Given the description of an element on the screen output the (x, y) to click on. 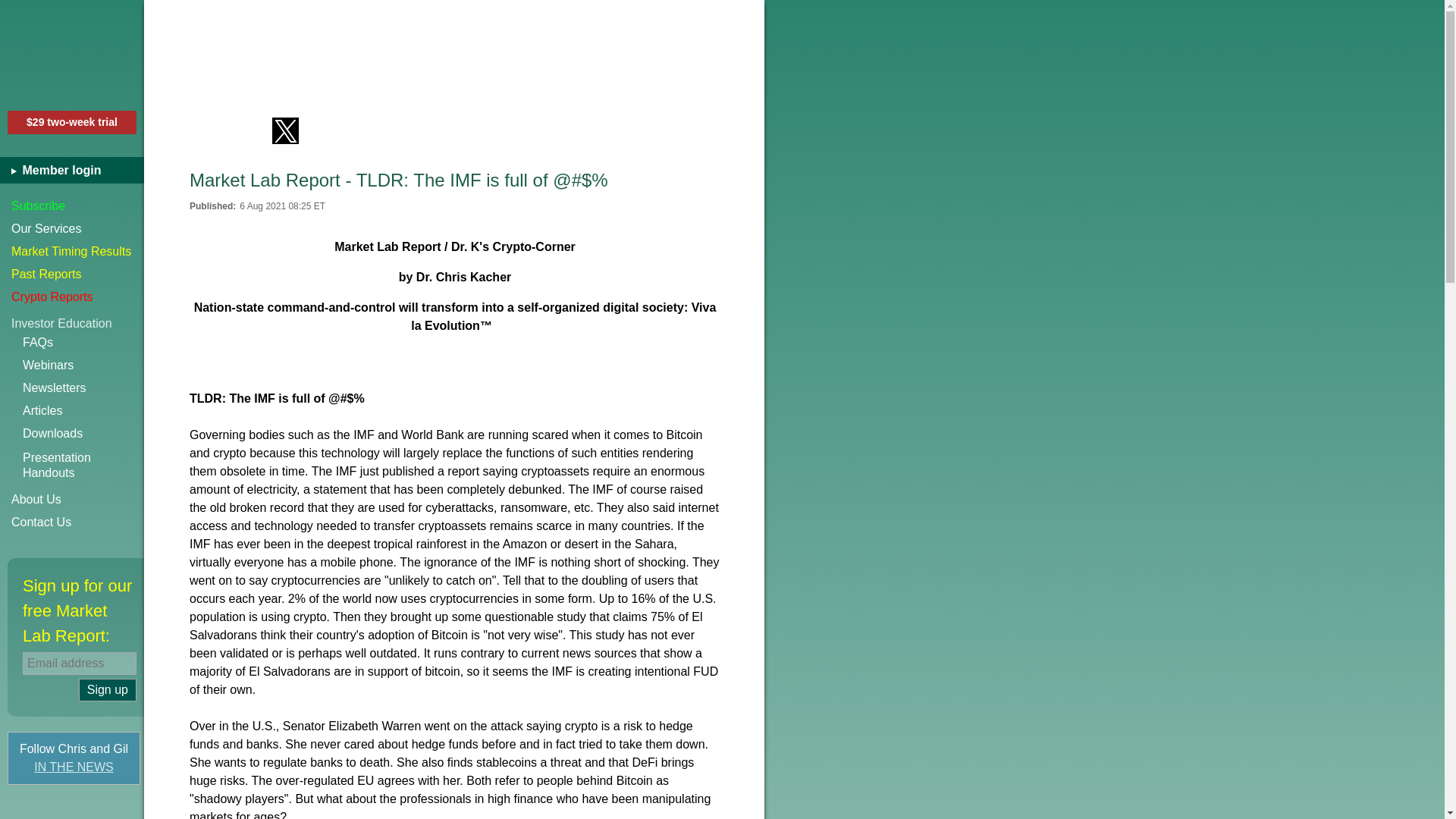
Newsletters (83, 465)
Facebook (83, 387)
YouTube (202, 130)
Market Timing Results (243, 130)
Contact Us (72, 251)
Past Reports (72, 522)
Our Services (72, 273)
IN THE NEWS (72, 228)
About Us (74, 767)
Crypto Reports (72, 499)
Articles (72, 296)
Sign up (83, 410)
Subscribe (107, 689)
Sign up (72, 205)
